Given the description of an element on the screen output the (x, y) to click on. 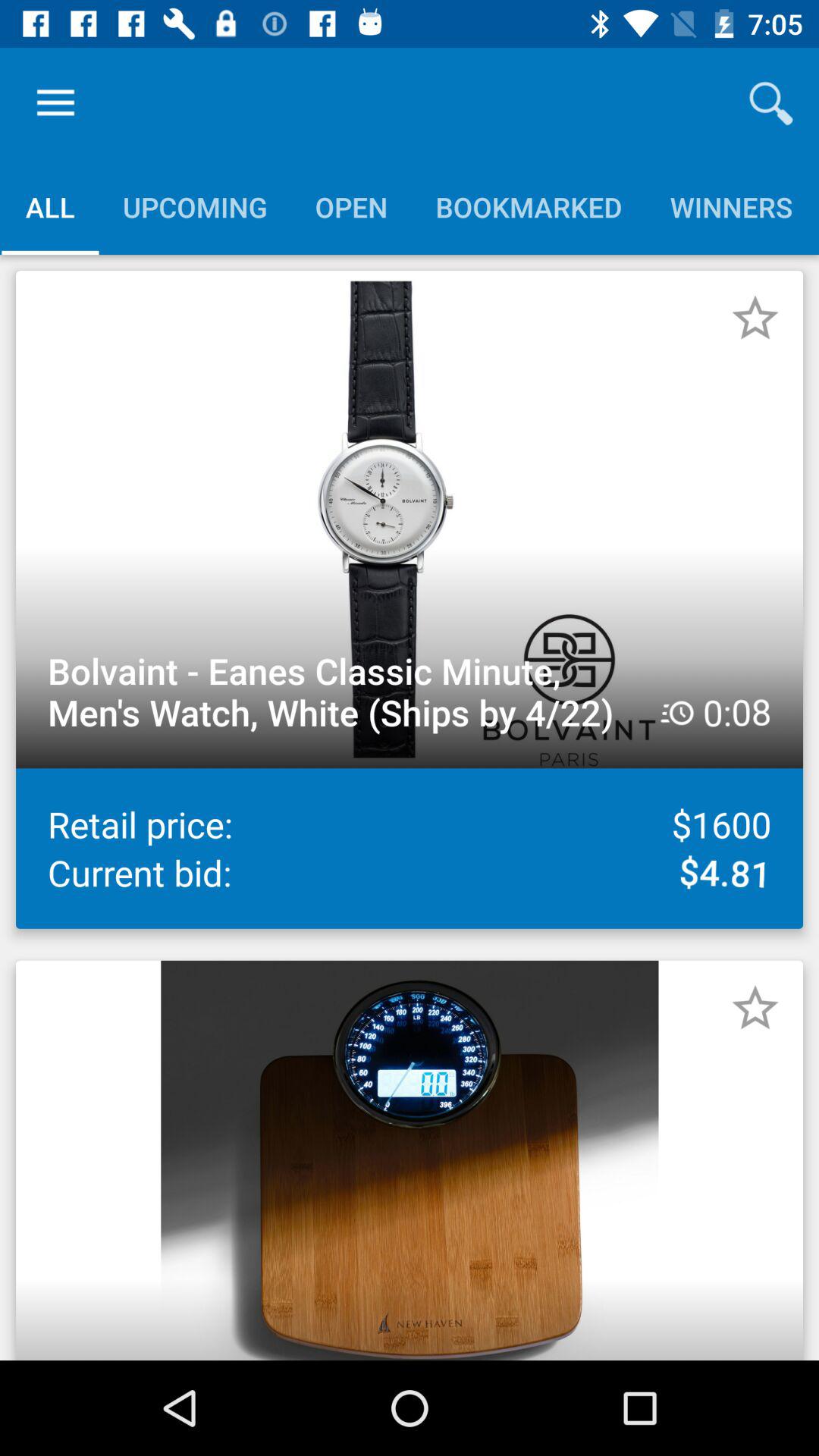
launch the icon above the winners icon (771, 103)
